Given the description of an element on the screen output the (x, y) to click on. 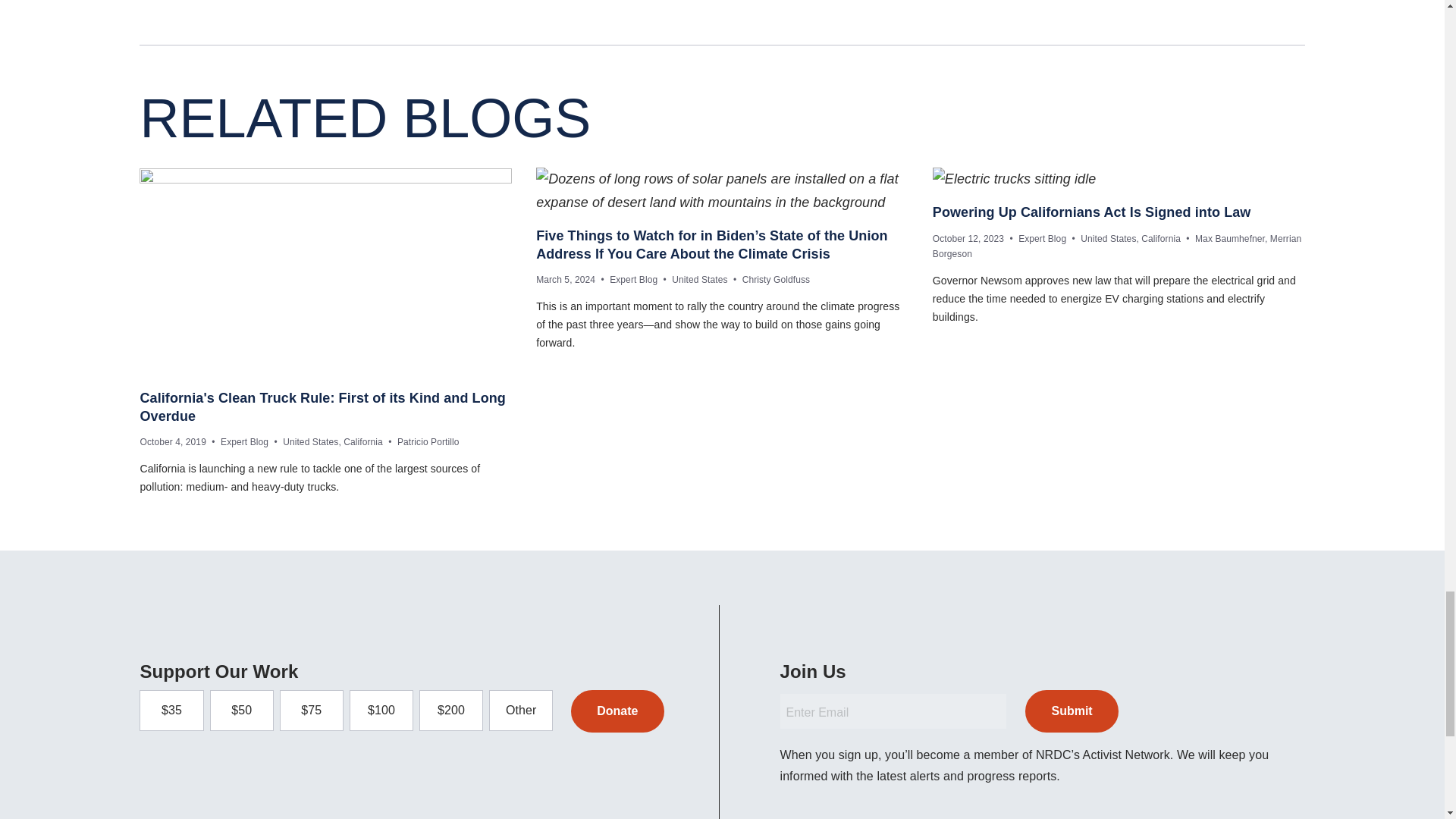
Original artwork by Andrew Schubert (325, 271)
